Given the description of an element on the screen output the (x, y) to click on. 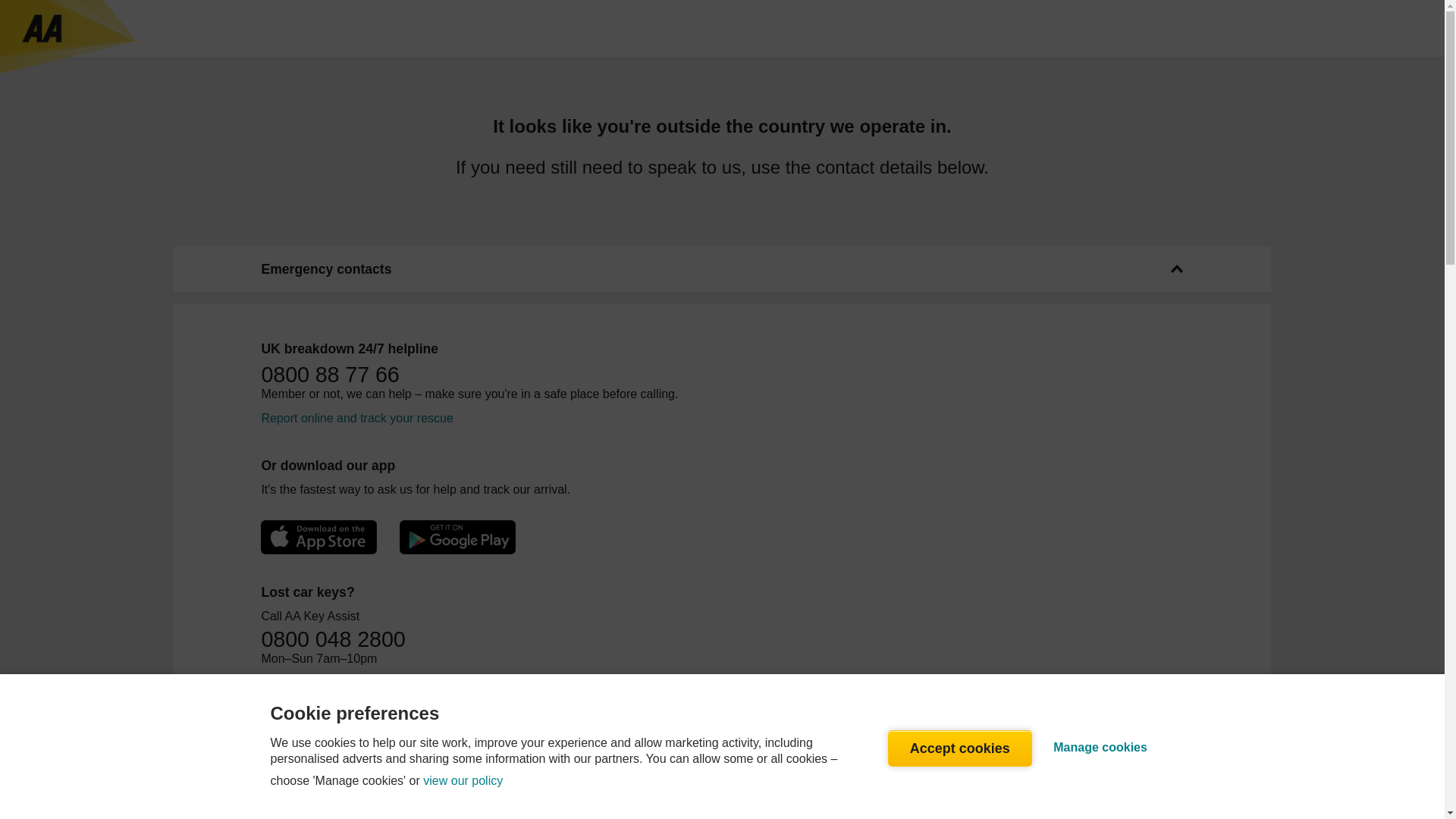
view our policy (462, 780)
Accept cookies (960, 748)
Report online and track your rescue (356, 418)
Manage cookies (1099, 747)
